Given the description of an element on the screen output the (x, y) to click on. 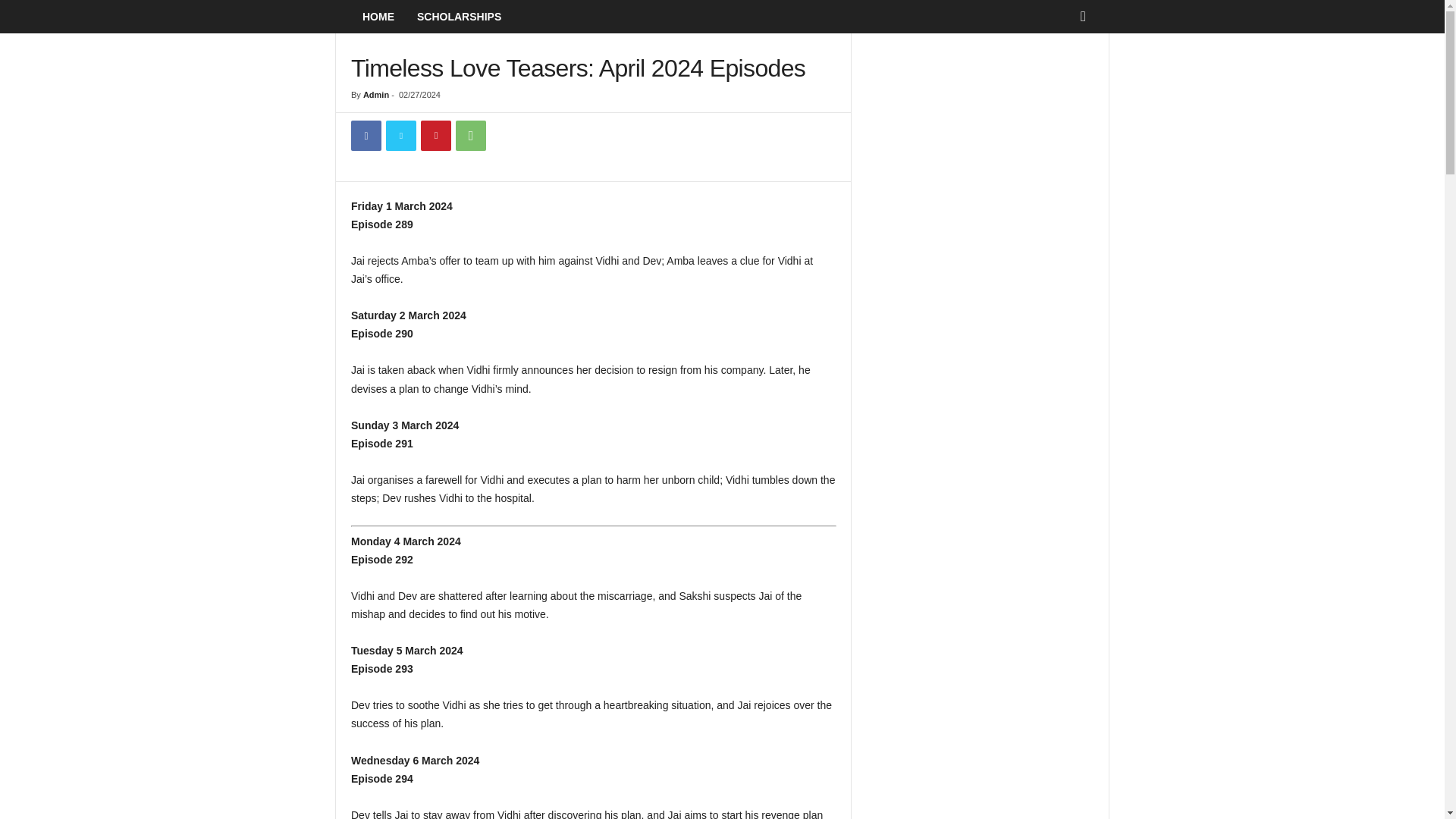
SCHOLARSHIPS (459, 16)
Pinterest (435, 135)
Twitter (400, 135)
HOME (378, 16)
Admin (375, 94)
WhatsApp (470, 135)
Facebook (365, 135)
